Given the description of an element on the screen output the (x, y) to click on. 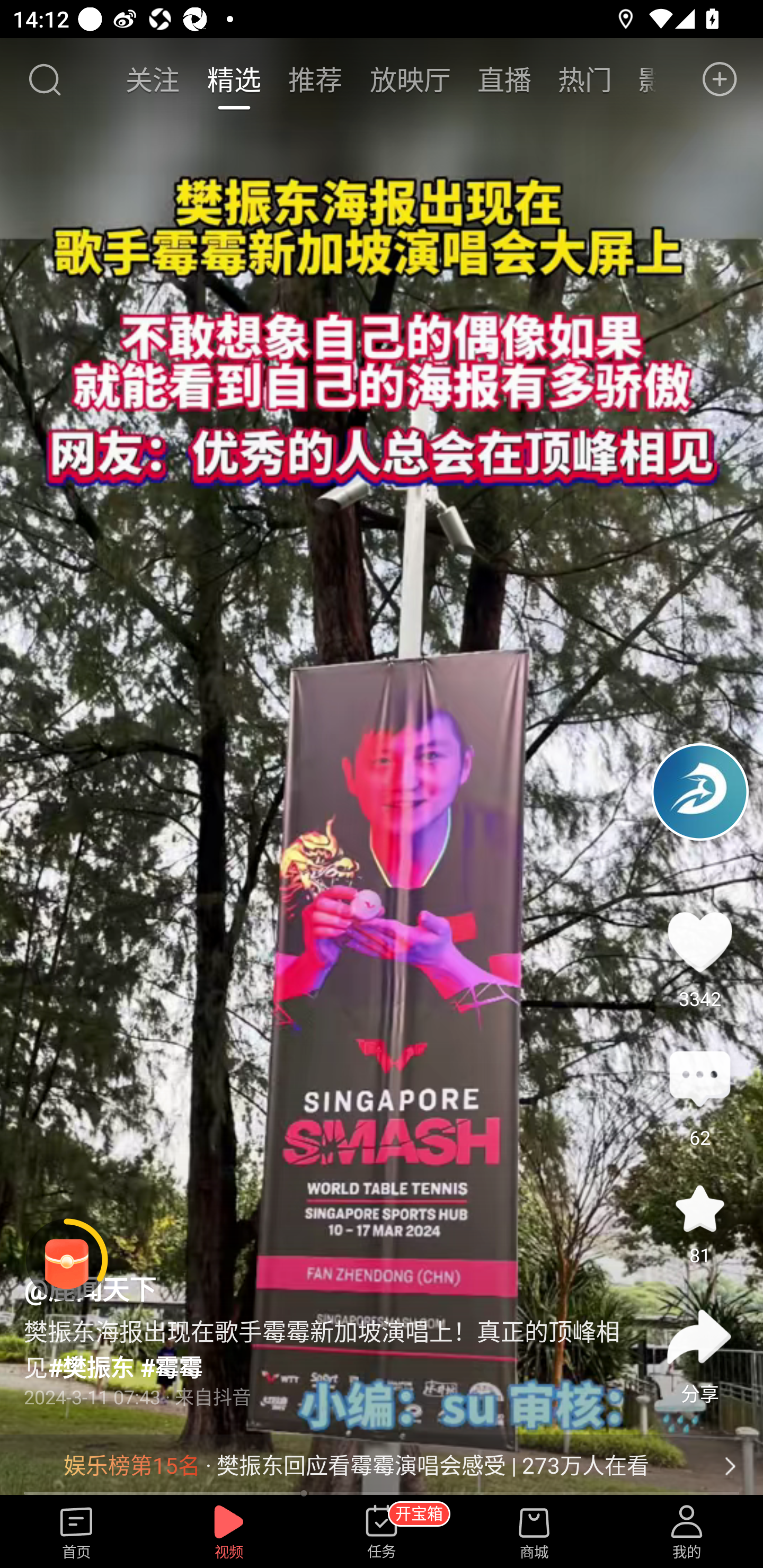
关注 (153, 79)
精选 (233, 79)
推荐 (315, 79)
放映厅 (409, 79)
直播 (504, 79)
热门 (584, 79)
搜索 (44, 79)
发布 (720, 79)
头像 (699, 791)
点赞3342 3342 (699, 941)
评论62 评论 62 (699, 1080)
收藏 81 (699, 1207)
阅读赚金币 (66, 1259)
分享 (699, 1336)
娱乐榜第15名  · 樊振东回应看霉霉演唱会感受  | 273万人在看 (381, 1465)
首页 (76, 1532)
视频 (228, 1532)
任务 开宝箱 (381, 1532)
商城 (533, 1532)
我的 (686, 1532)
